Given the description of an element on the screen output the (x, y) to click on. 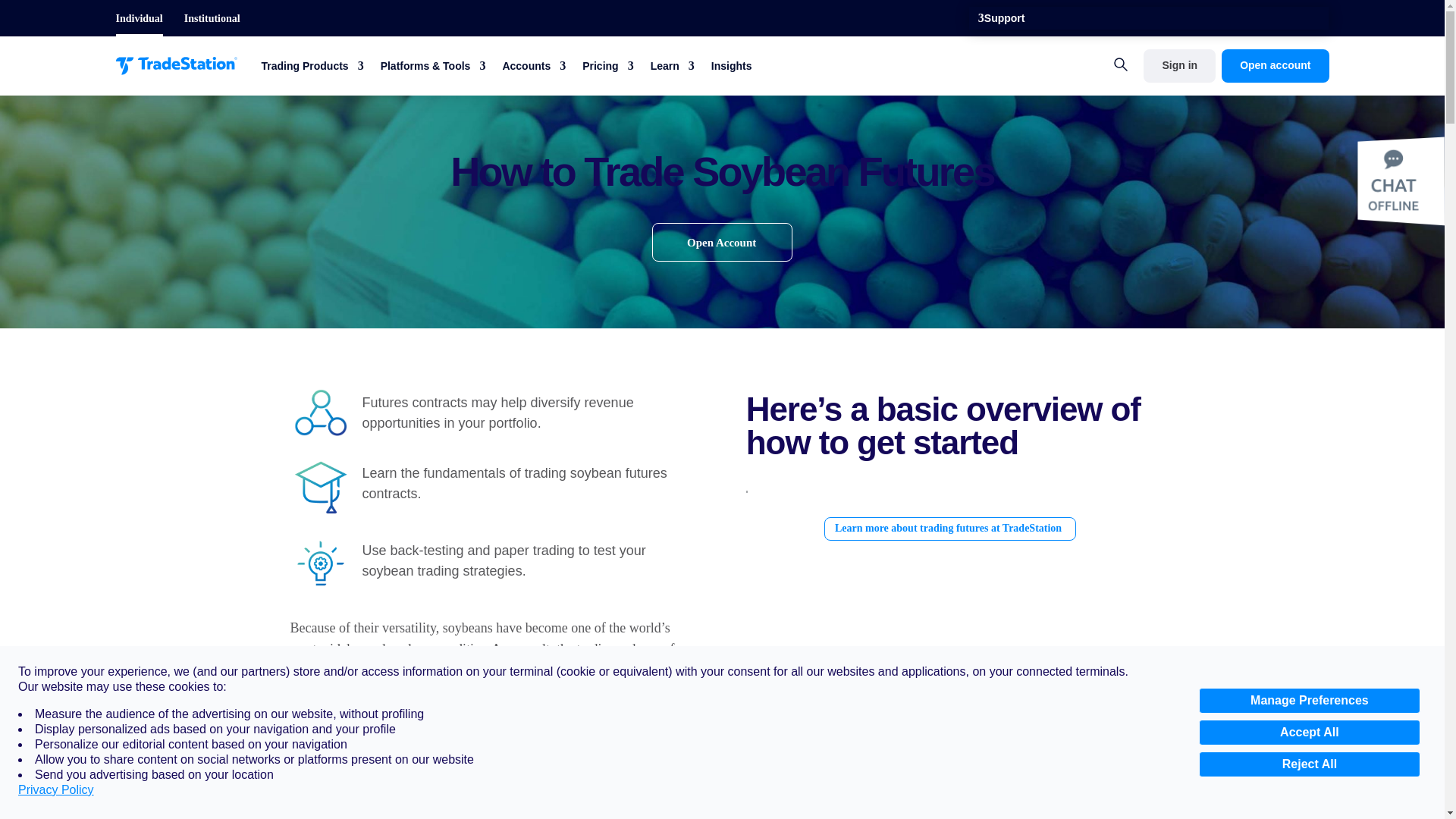
Support (1004, 21)
Privacy Policy (55, 789)
Trading Products (311, 68)
logo (175, 65)
Reject All (1309, 764)
Institutional (212, 18)
Accept All (1309, 732)
Manage Preferences (1309, 700)
